Given the description of an element on the screen output the (x, y) to click on. 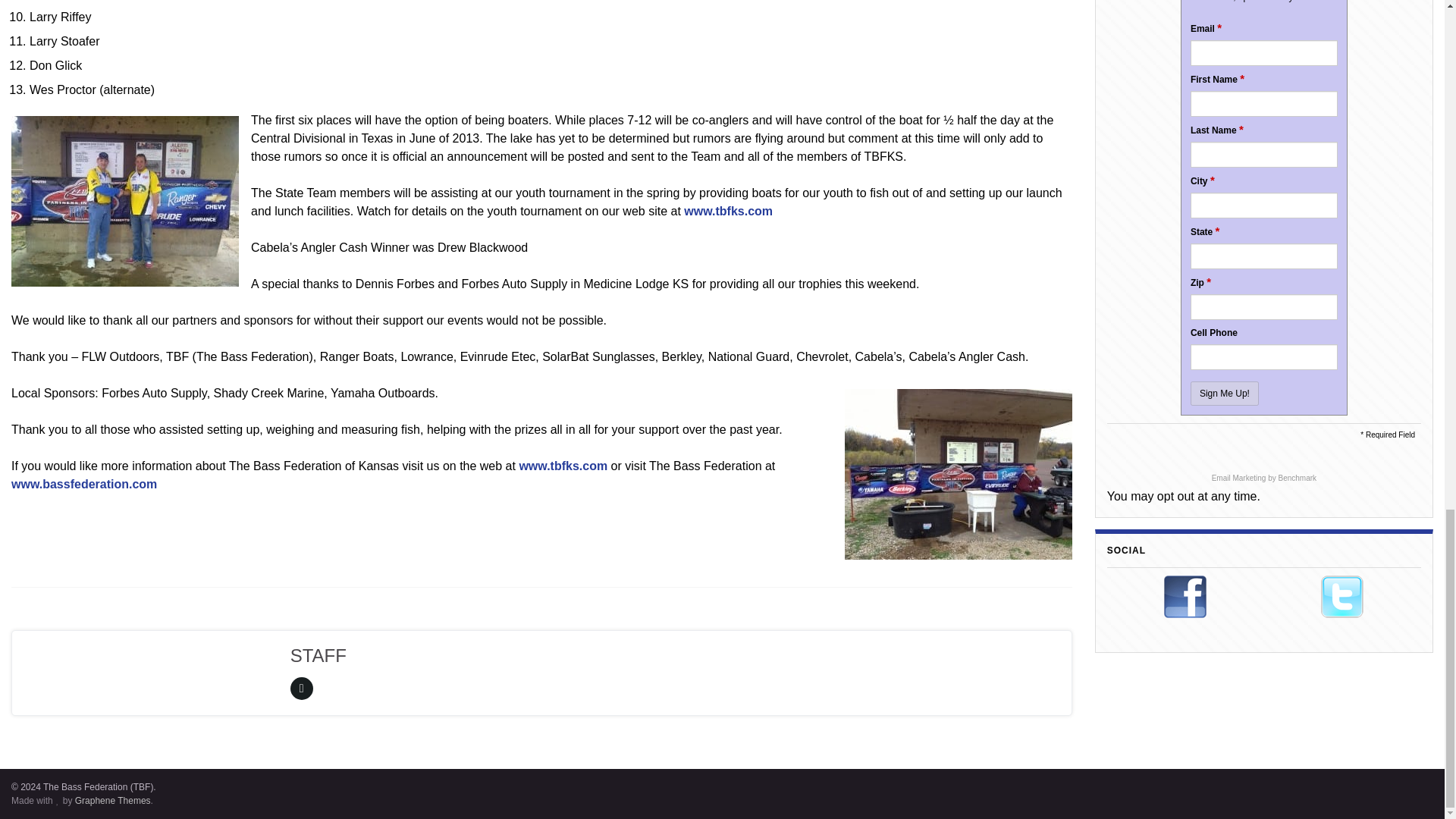
Cabelas Angler Cash (124, 201)
Sign Me Up! (1225, 393)
Venue (957, 474)
